Given the description of an element on the screen output the (x, y) to click on. 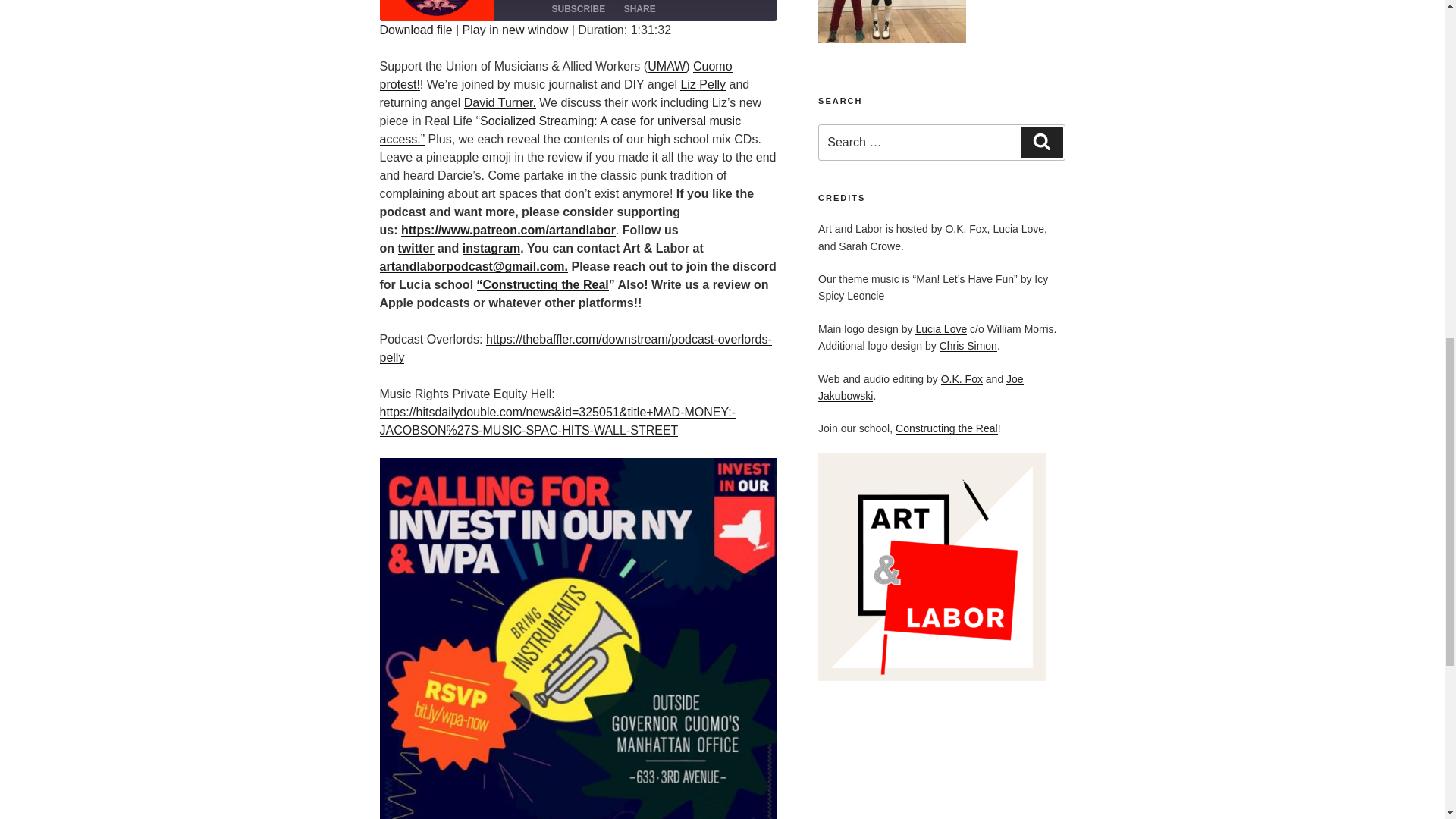
Joe Jakubowski (920, 387)
Subscribe (578, 9)
Liz Pelly (702, 83)
SUBSCRIBE (578, 9)
Download file (414, 29)
Lucia Love (940, 328)
UMAW (666, 65)
Play in new window (516, 29)
SHARE (639, 9)
O.K. Fox (961, 378)
